Given the description of an element on the screen output the (x, y) to click on. 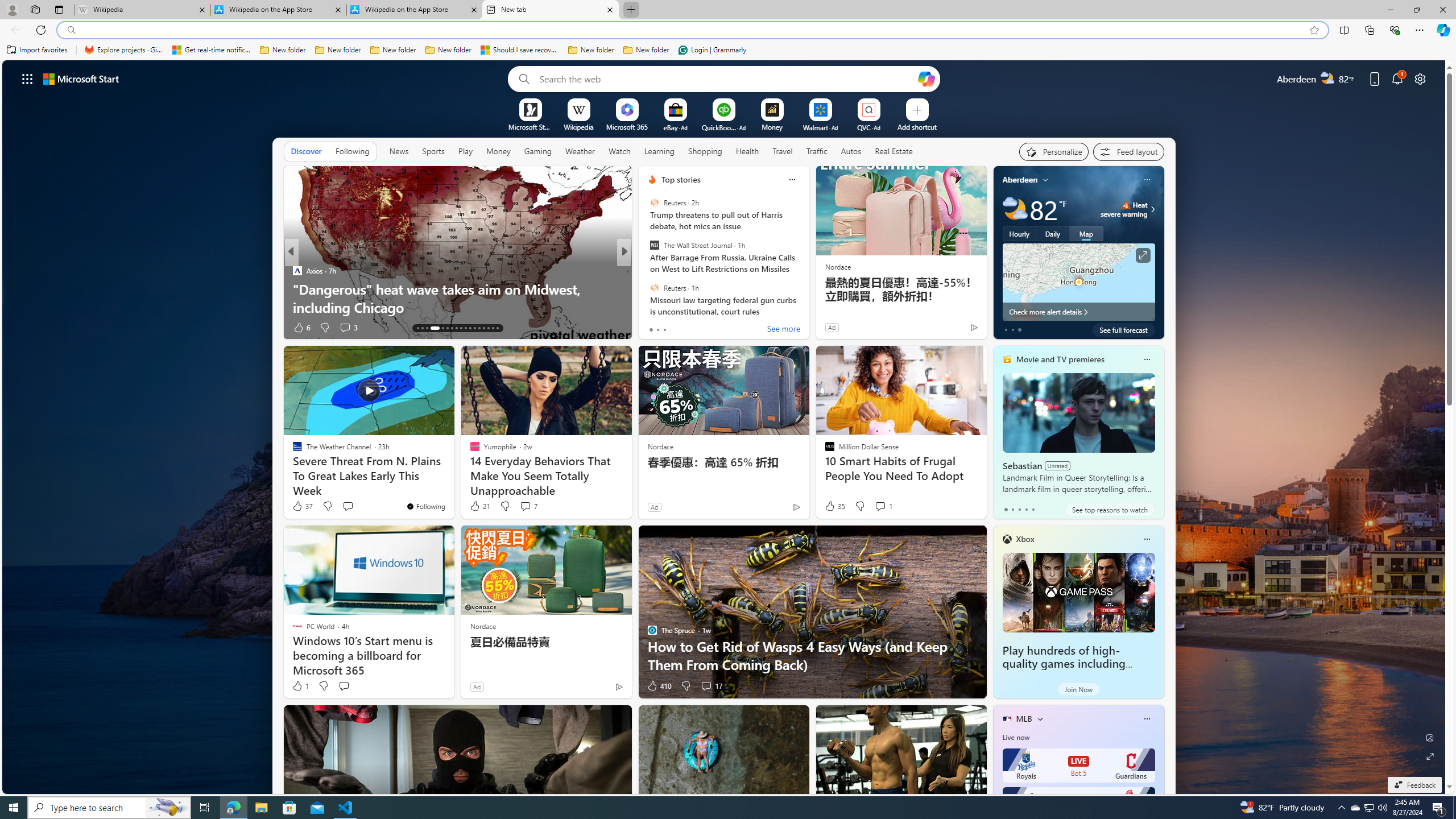
MLB (1024, 718)
45 Like (652, 327)
MSNBC (647, 270)
View comments 6 Comment (705, 327)
Xbox (1025, 538)
